Given the description of an element on the screen output the (x, y) to click on. 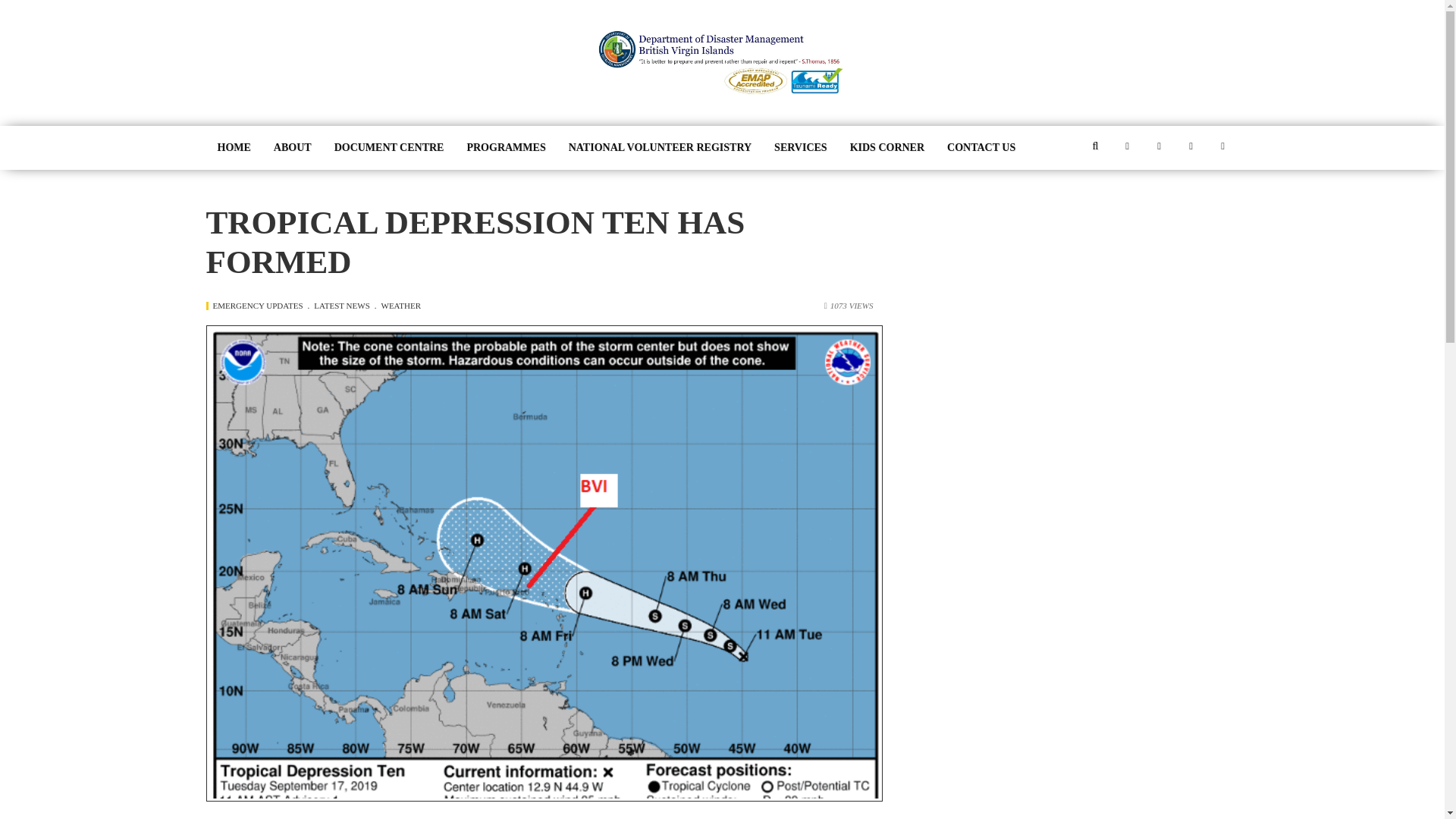
Emergency Updates (260, 305)
HOME (234, 147)
Weather (401, 305)
ABOUT (292, 147)
Latest News (344, 305)
